Given the description of an element on the screen output the (x, y) to click on. 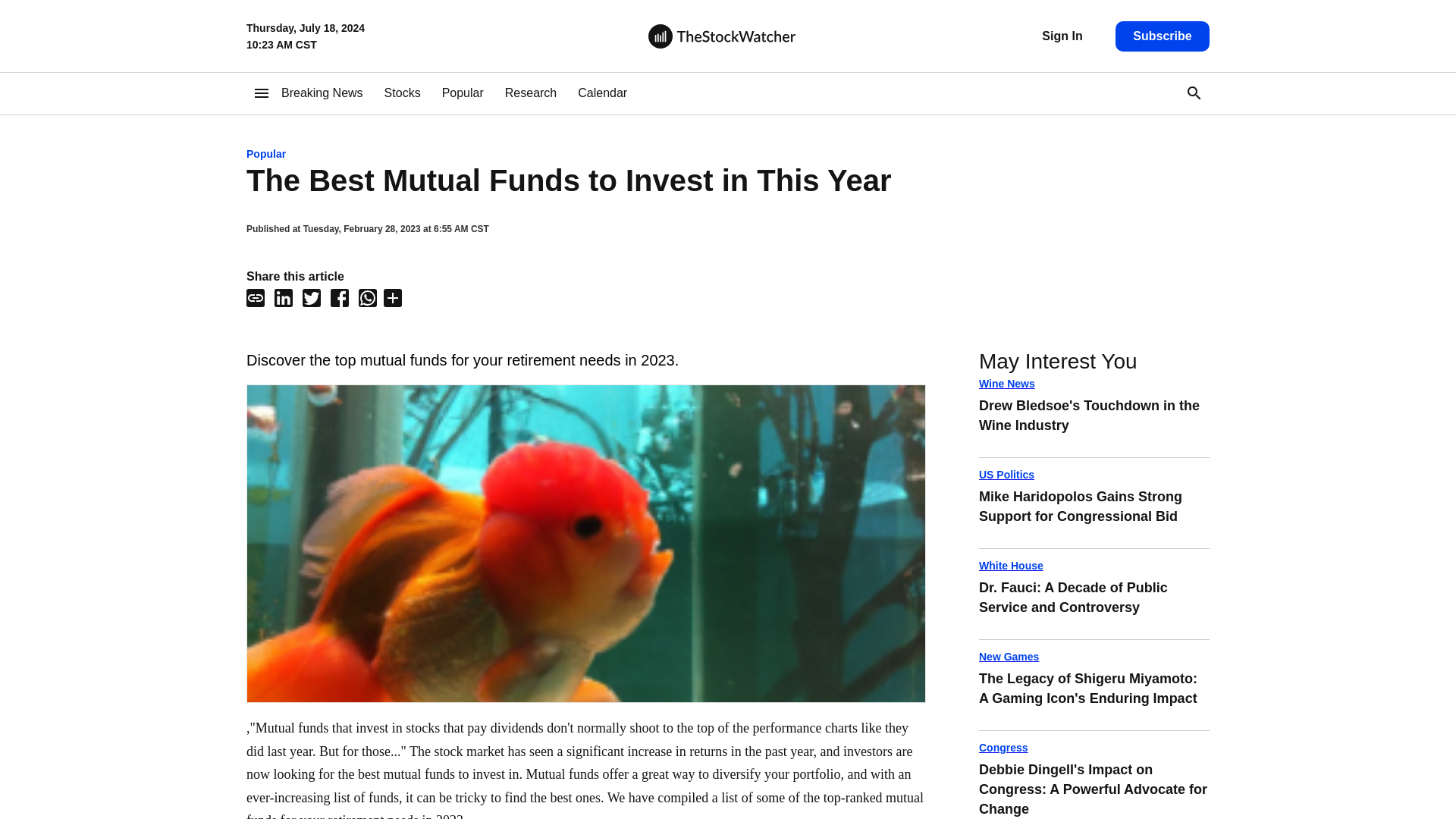
Stocks (402, 92)
Breaking News (1093, 421)
Research (322, 92)
New Games (530, 92)
Subscribe (1093, 656)
Wine News (1162, 36)
Calendar (1093, 383)
Sign In (1093, 604)
US Politics (602, 92)
White House (1061, 36)
Popular (1093, 474)
